Given the description of an element on the screen output the (x, y) to click on. 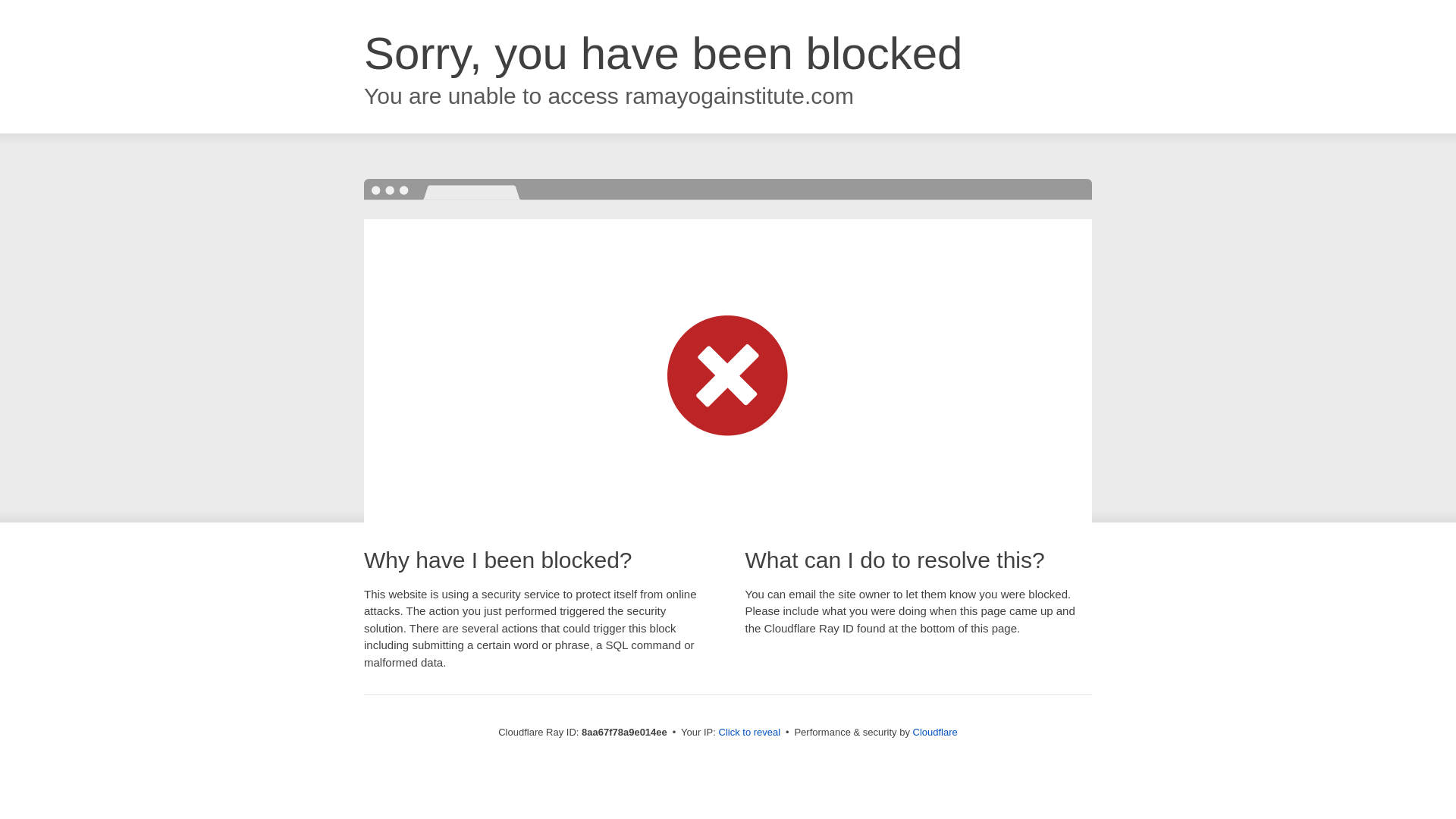
Click to reveal (749, 732)
Cloudflare (935, 731)
